Given the description of an element on the screen output the (x, y) to click on. 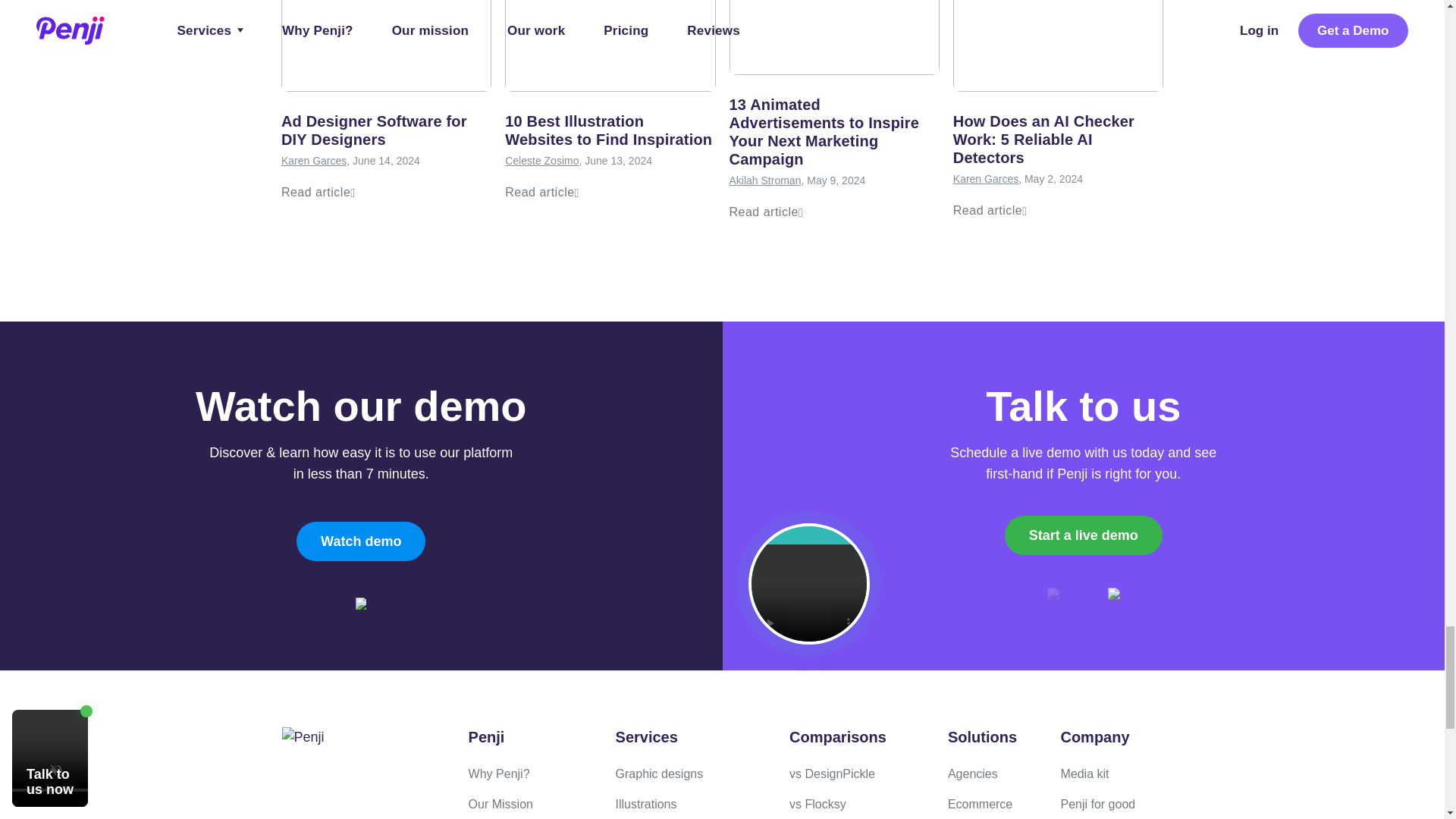
Akilah Stroman (765, 180)
Celeste Zosimo (541, 160)
Read article (318, 192)
Posts by Karen Garces (985, 178)
Karen Garces (313, 160)
10 Best Illustration Websites to Find Inspiration (608, 130)
Ad Designer Software for DIY Designers (374, 130)
Posts by Akilah Stroman (765, 180)
Posts by Karen Garces (313, 160)
Read article (541, 192)
Posts by Celeste Zosimo (541, 160)
Read article (766, 212)
